Given the description of an element on the screen output the (x, y) to click on. 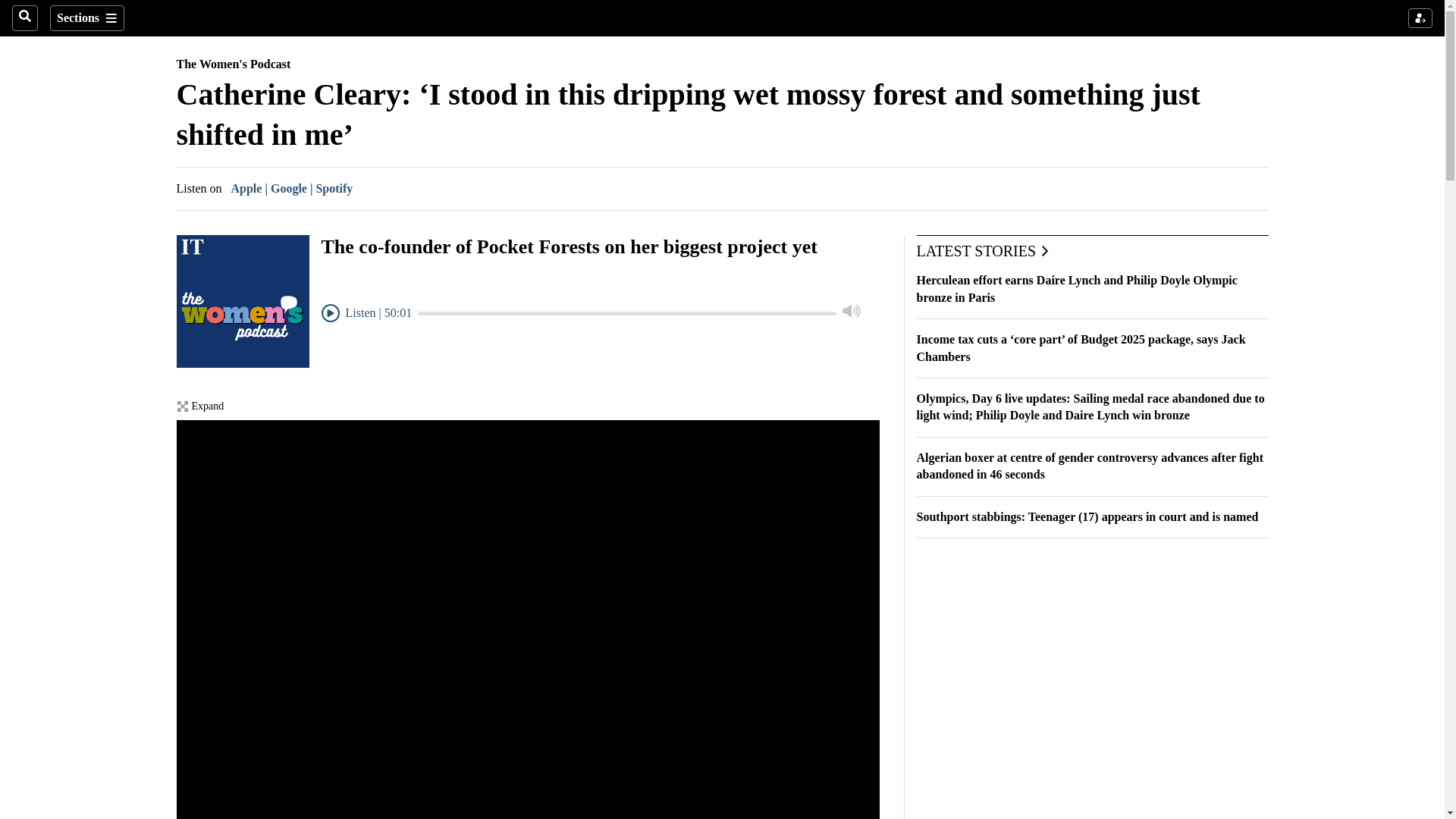
Sections (86, 17)
